Given the description of an element on the screen output the (x, y) to click on. 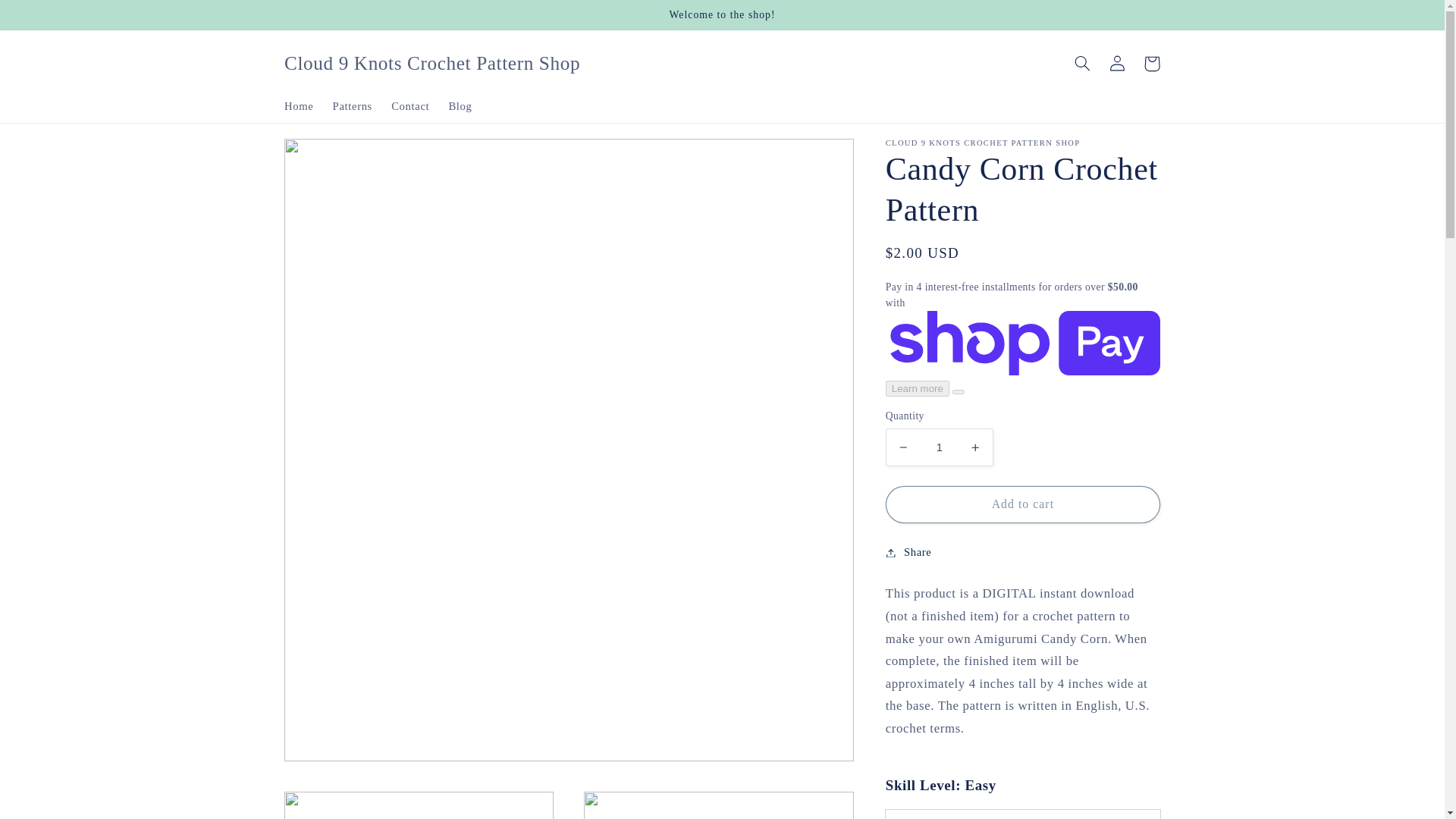
Home (299, 105)
Skip to product information (331, 156)
Contact (410, 105)
Increase quantity for Candy Corn Crochet Pattern (975, 447)
Skip to content (48, 18)
1 (939, 447)
Cloud 9 Knots Crochet Pattern Shop (432, 62)
Cart (1151, 63)
Log in (1116, 63)
Add to cart (1022, 504)
